Given the description of an element on the screen output the (x, y) to click on. 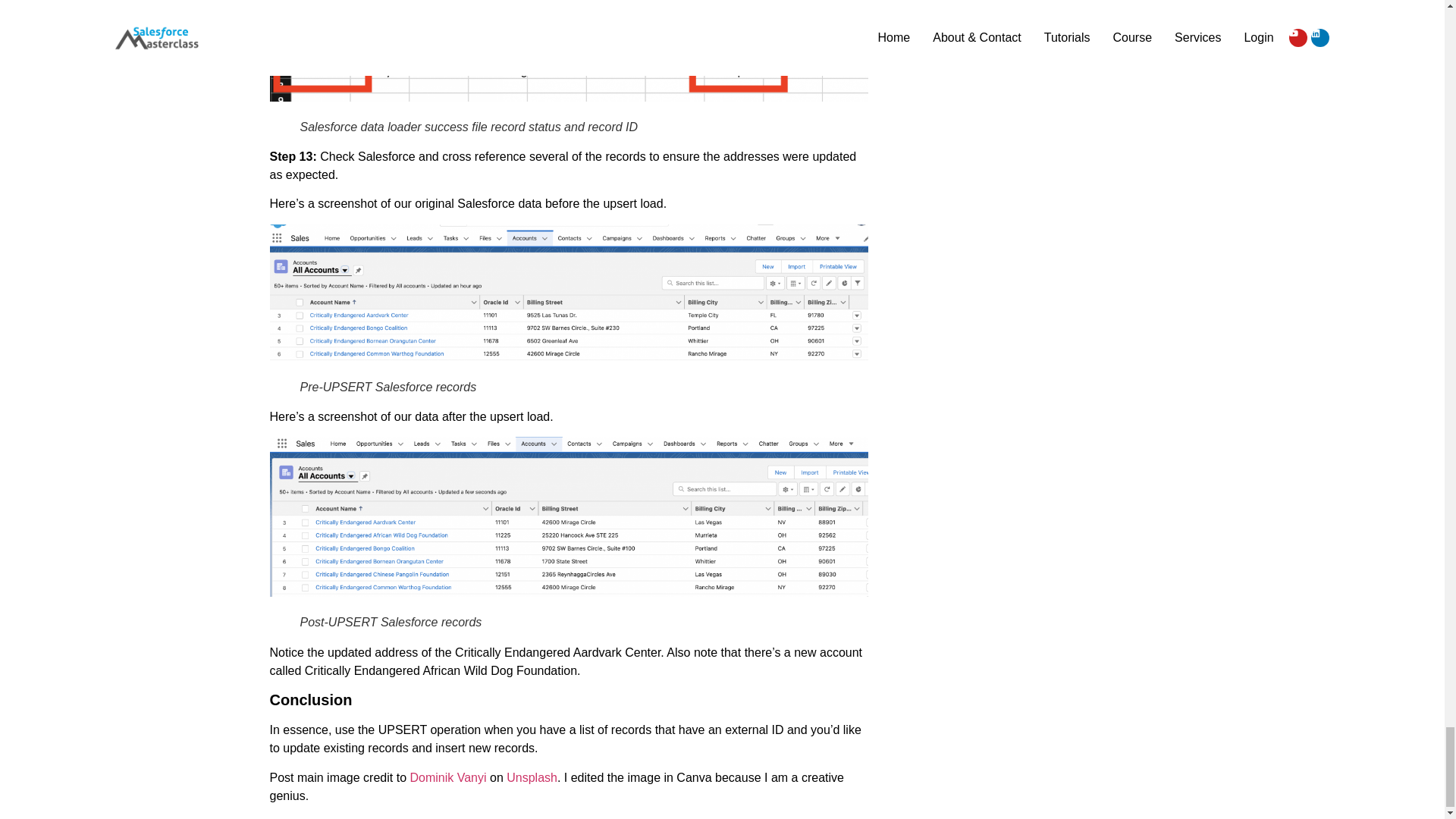
Dominik Vanyi (447, 777)
Unsplash (531, 777)
